Given the description of an element on the screen output the (x, y) to click on. 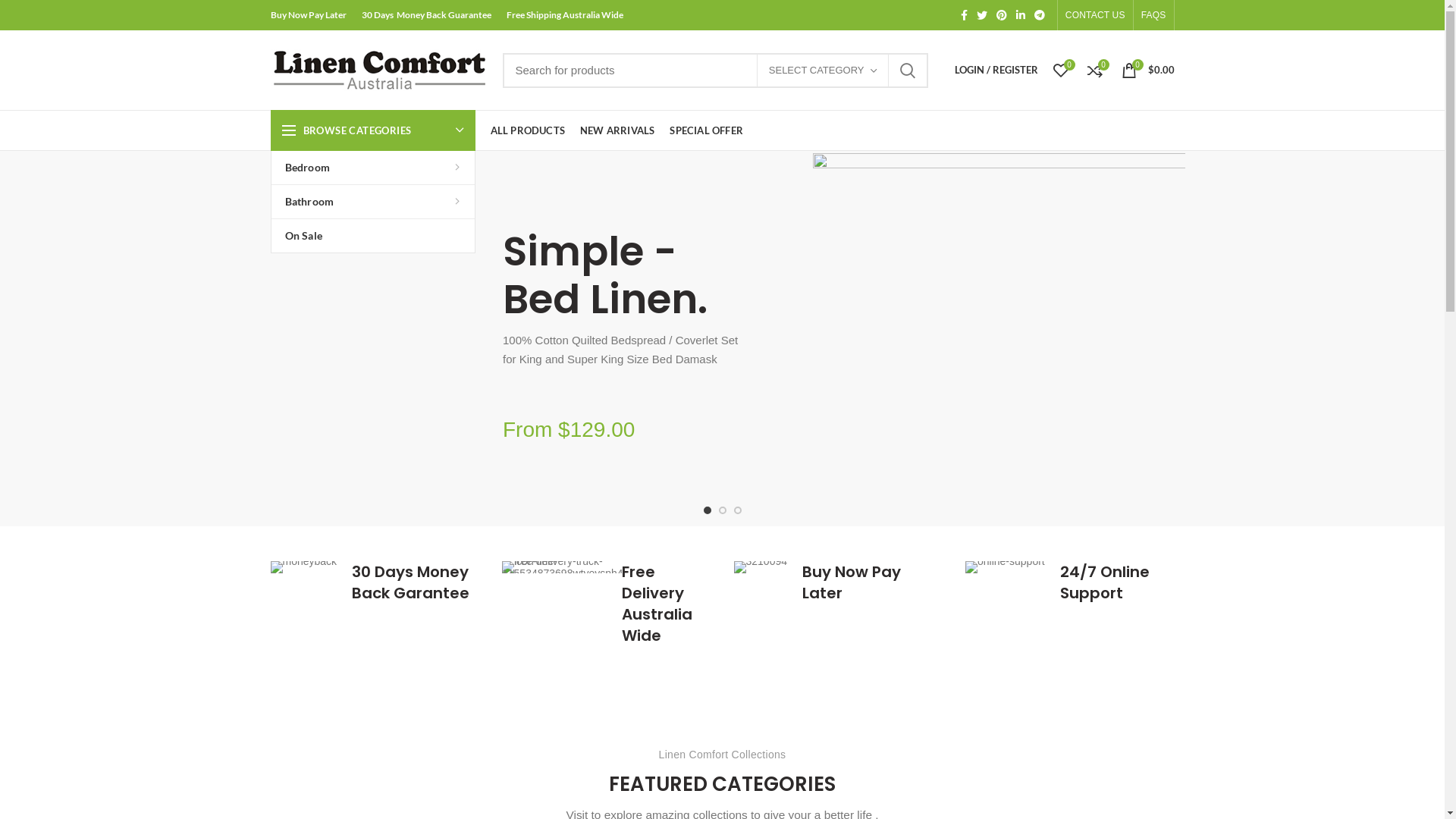
free-delivery-truck-icon-line-115534873698wtyeysnh4 Element type: hover (562, 567)
0 Element type: text (1094, 69)
Telegram Element type: text (1039, 15)
moneyback Element type: hover (302, 567)
SPECIAL OFFER Element type: text (706, 130)
NEW ARRIVALS Element type: text (617, 130)
linkedin Element type: text (1020, 15)
3210094 Element type: hover (760, 567)
ALL PRODUCTS Element type: text (526, 130)
SEARCH Element type: text (907, 70)
online-support Element type: hover (1004, 567)
0 Element type: text (1059, 69)
On Sale Element type: text (372, 235)
Twitter Element type: text (981, 15)
Bathroom Element type: text (372, 201)
Facebook Element type: text (964, 15)
Pinterest Element type: text (1001, 15)
FAQS Element type: text (1153, 15)
SELECT CATEGORY Element type: text (822, 70)
Bedroom Element type: text (372, 167)
LOGIN / REGISTER Element type: text (995, 69)
CONTACT US Element type: text (1094, 15)
0
$0.00 Element type: text (1147, 69)
